Given the description of an element on the screen output the (x, y) to click on. 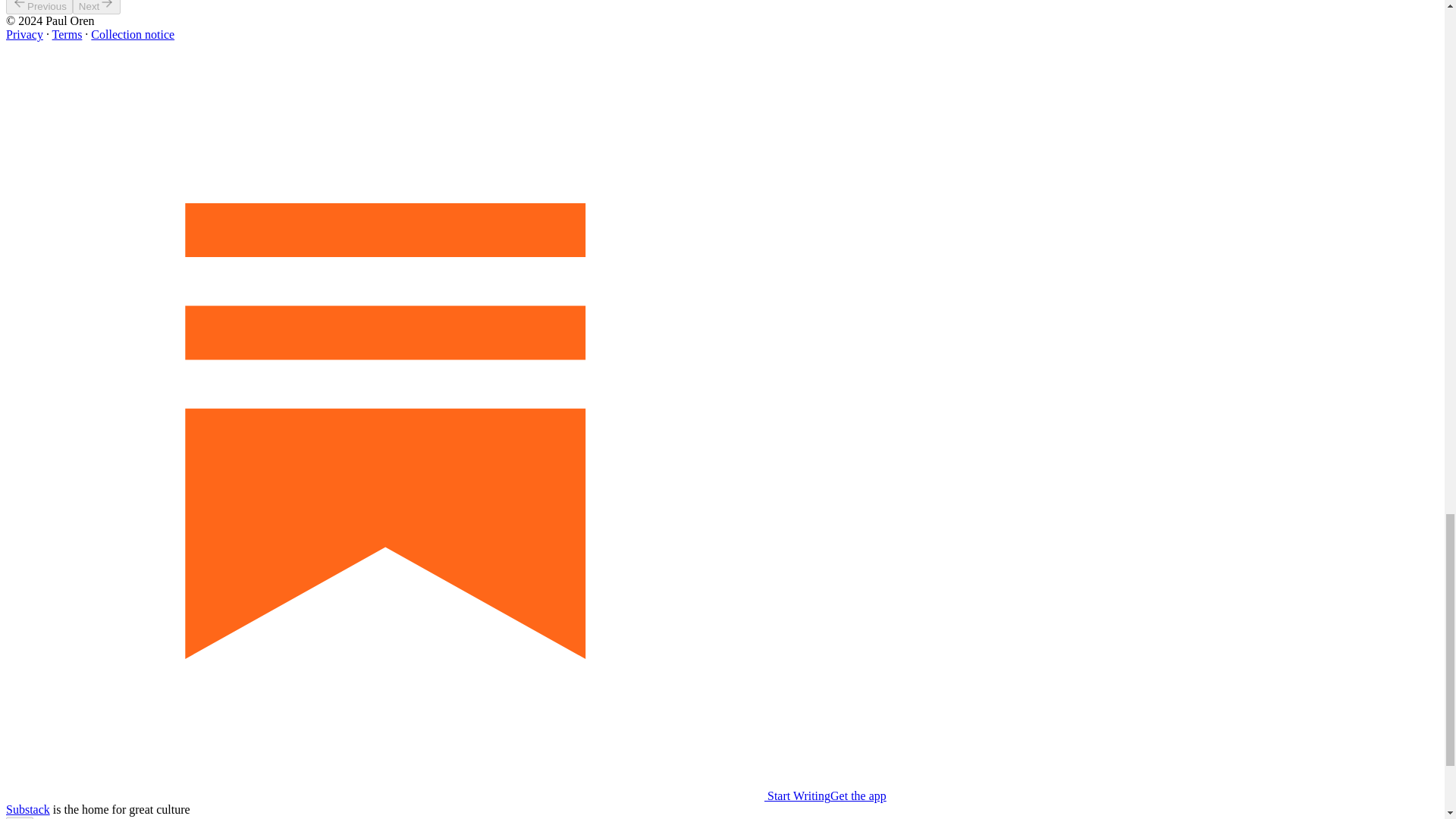
Privacy (24, 33)
Substack (27, 809)
Previous (38, 7)
Get the app (857, 795)
Terms (67, 33)
Collection notice (132, 33)
Next (96, 7)
Start Writing (417, 795)
